Given the description of an element on the screen output the (x, y) to click on. 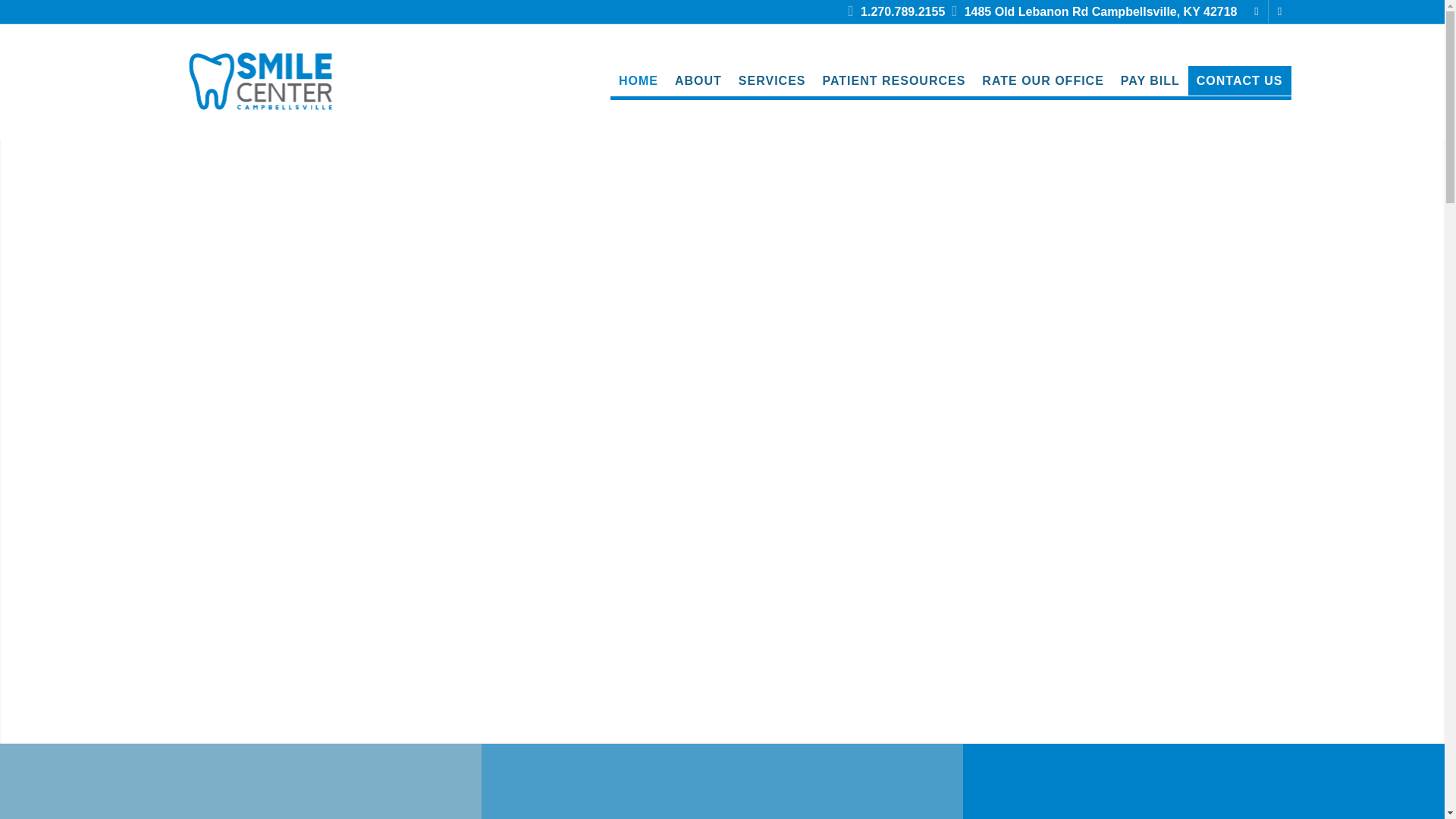
PATIENT RESOURCES (893, 81)
Aesthetics (1203, 788)
CONTACT US (1239, 81)
Orthodontics (239, 788)
Instagram (1279, 11)
CEREC (721, 788)
RATE OUR OFFICE (1043, 81)
Facebook (1255, 11)
